Given the description of an element on the screen output the (x, y) to click on. 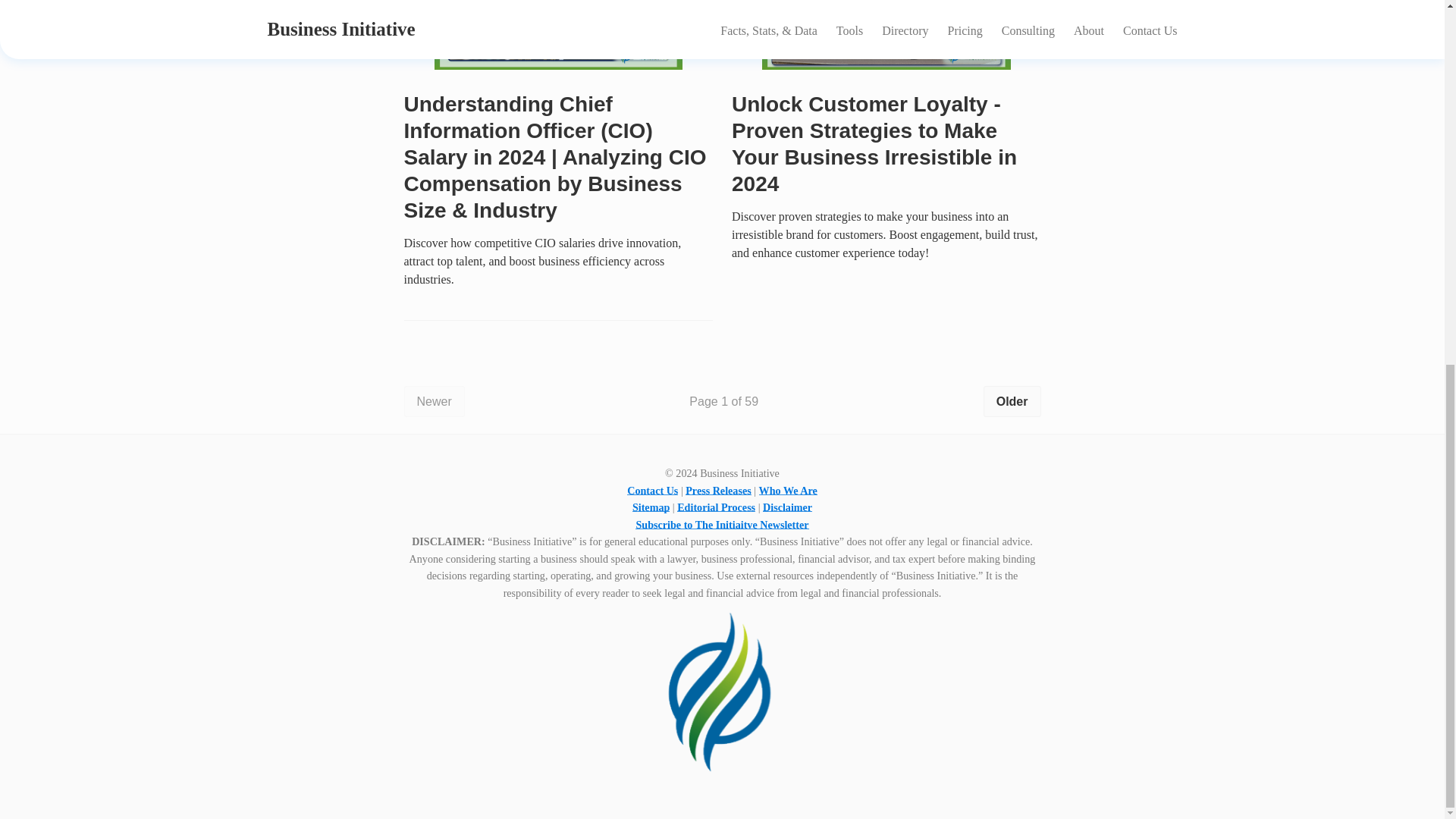
Business Initiative Logo (722, 692)
Subscribe to The Initiaitve Newsletter (721, 522)
Sitemap (650, 504)
Press Releases (718, 486)
Older (1012, 396)
Contact Us (652, 486)
Who We Are (787, 487)
Editorial Process (716, 505)
